Given the description of an element on the screen output the (x, y) to click on. 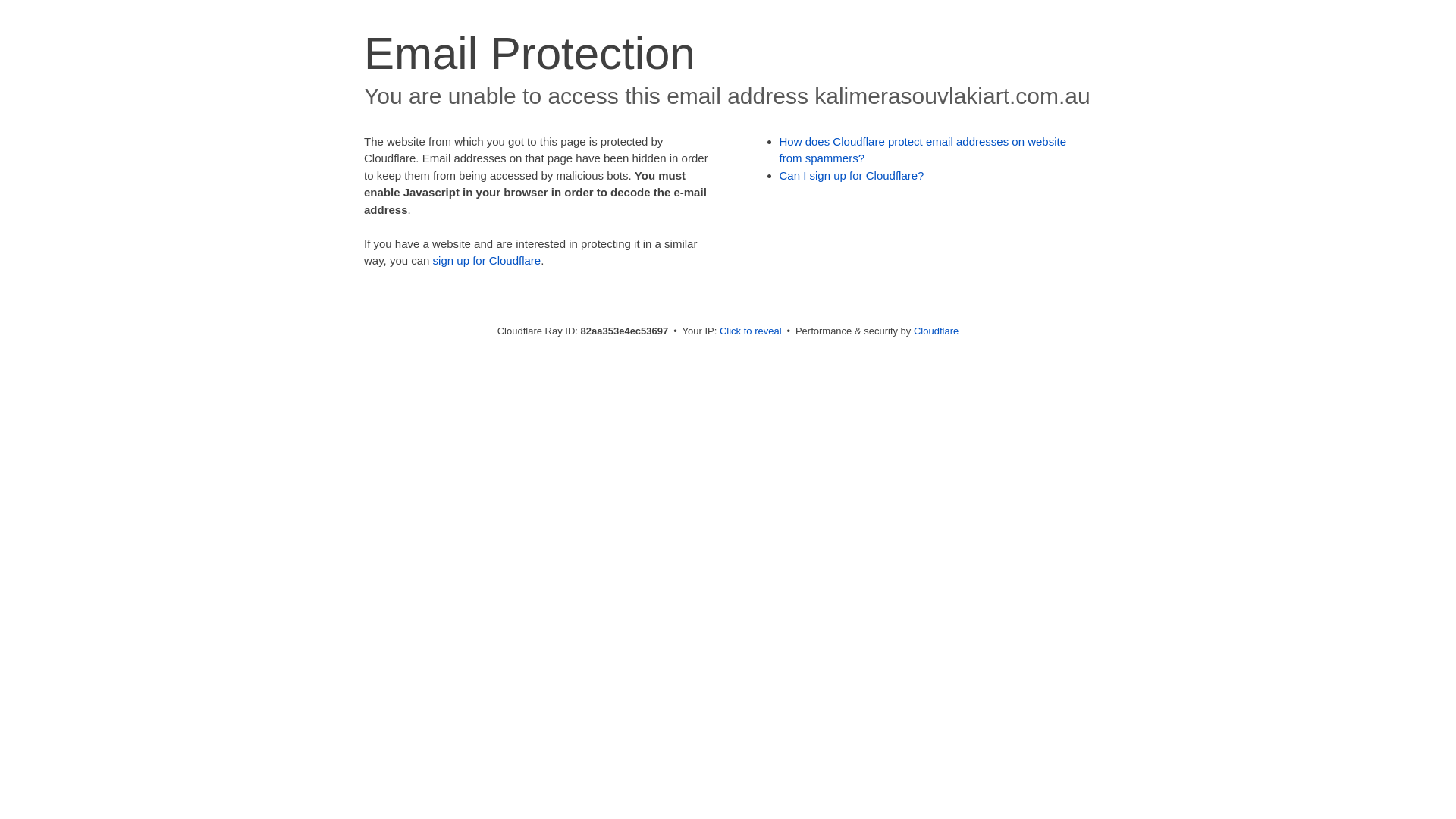
Can I sign up for Cloudflare? Element type: text (851, 175)
Click to reveal Element type: text (750, 330)
sign up for Cloudflare Element type: text (487, 260)
Cloudflare Element type: text (935, 330)
